Given the description of an element on the screen output the (x, y) to click on. 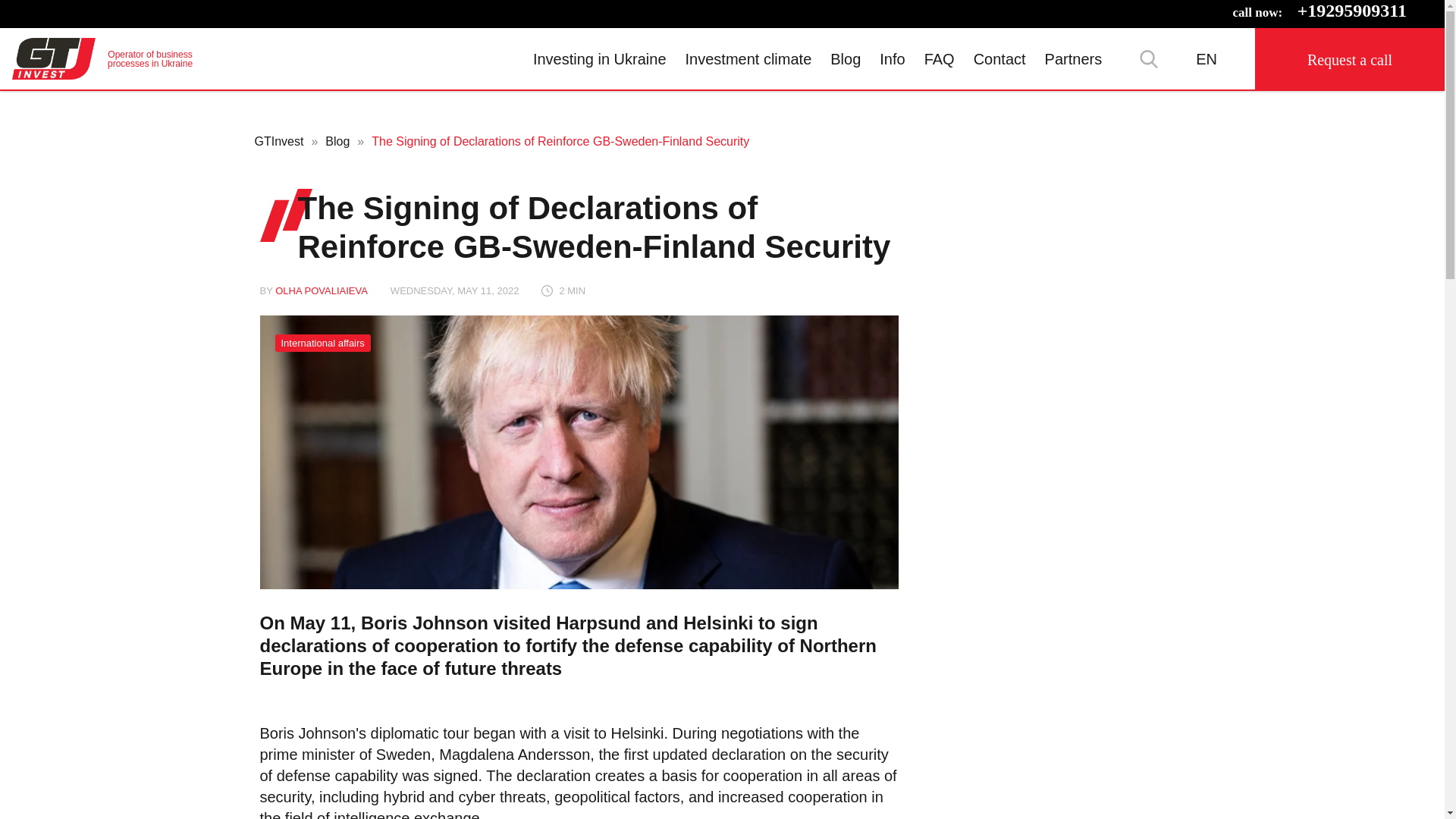
International affairs (322, 343)
GTInvest (101, 58)
Investing in Ukraine (101, 58)
